Given the description of an element on the screen output the (x, y) to click on. 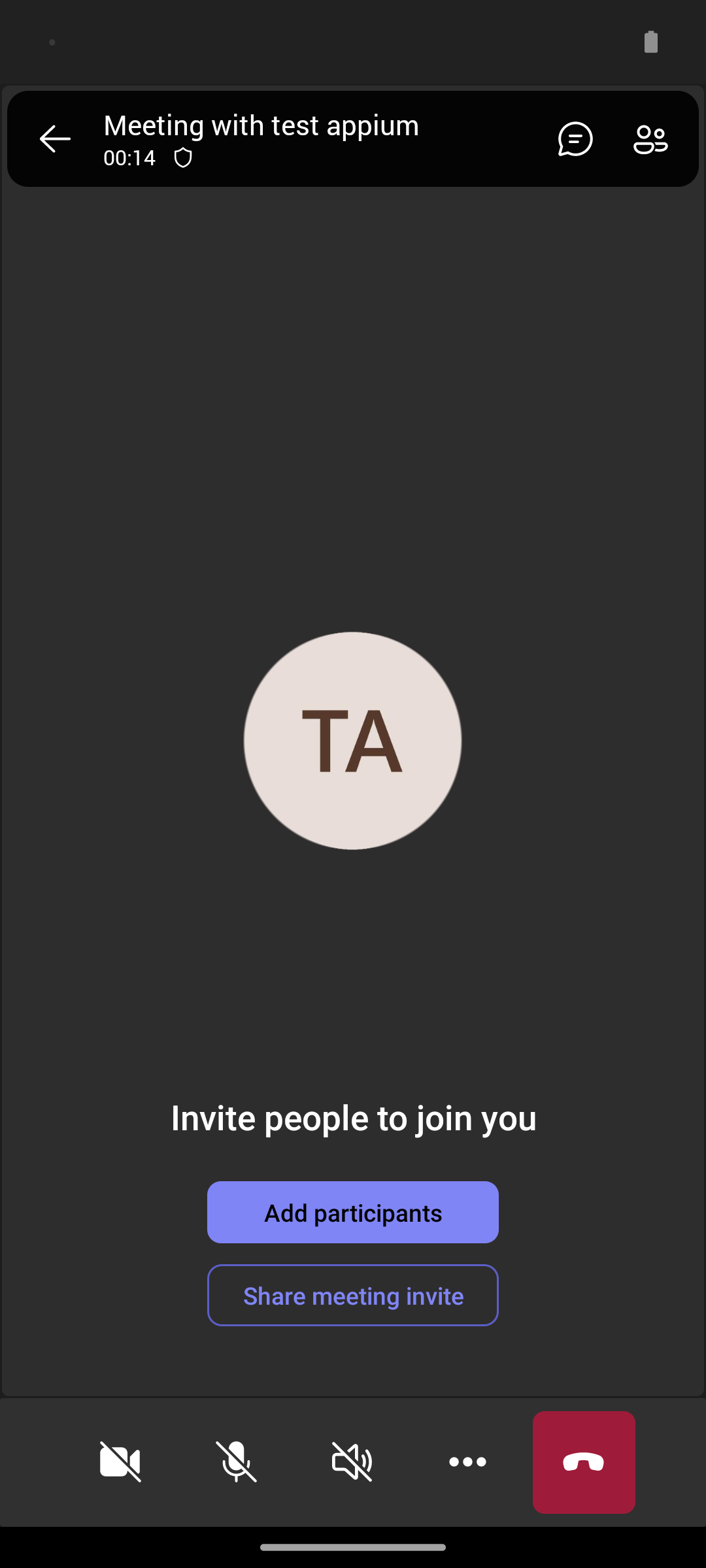
Back (55, 138)
Chat (570, 138)
Show participants (655, 138)
Add participants (352, 1211)
Share meeting invite (352, 1294)
Turn on camera (120, 1462)
Unmute (236, 1462)
Audio (352, 1462)
More options (468, 1462)
Hang up (584, 1462)
